Given the description of an element on the screen output the (x, y) to click on. 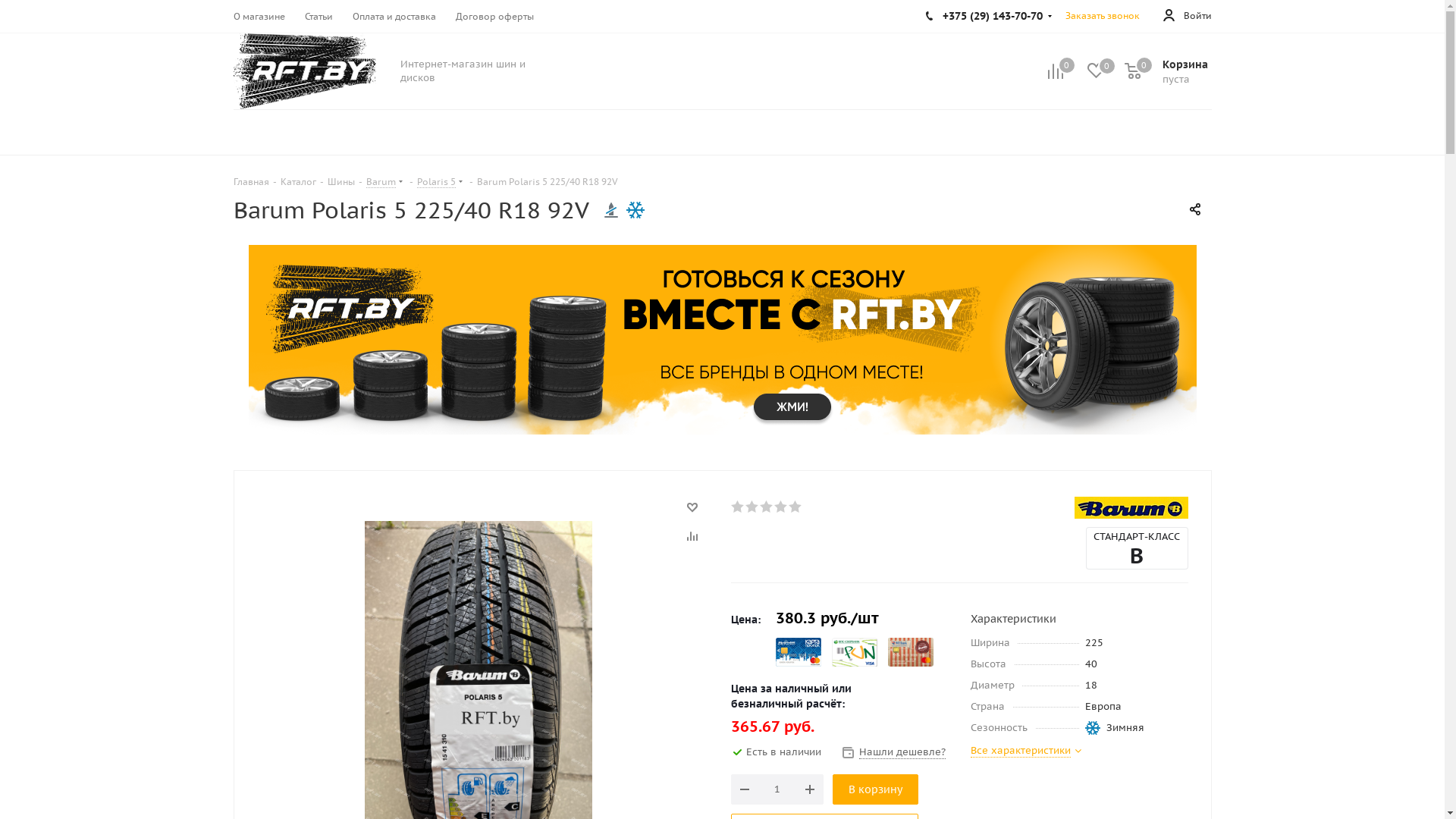
4 Element type: hover (780, 506)
Barum Element type: hover (1130, 507)
+375 (29) 143-70-70 Element type: text (988, 15)
2 Element type: hover (751, 506)
Barum Element type: text (380, 181)
Polaris 5 Element type: text (436, 181)
1 Element type: hover (738, 506)
3 Element type: hover (766, 506)
5 Element type: hover (795, 506)
